Given the description of an element on the screen output the (x, y) to click on. 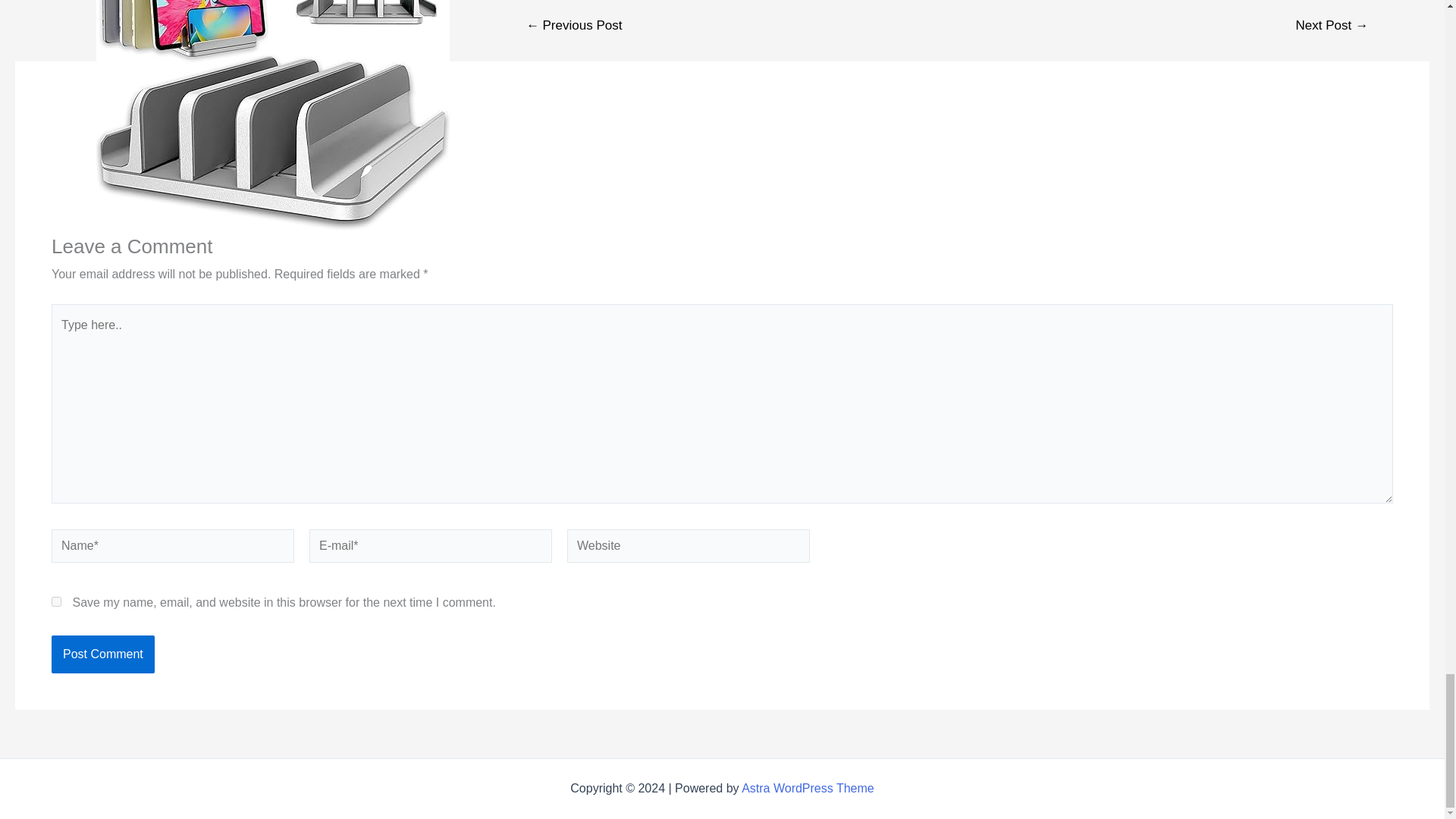
Post Comment (102, 654)
yes (55, 601)
Post Comment (102, 654)
Astra WordPress Theme (808, 788)
